Given the description of an element on the screen output the (x, y) to click on. 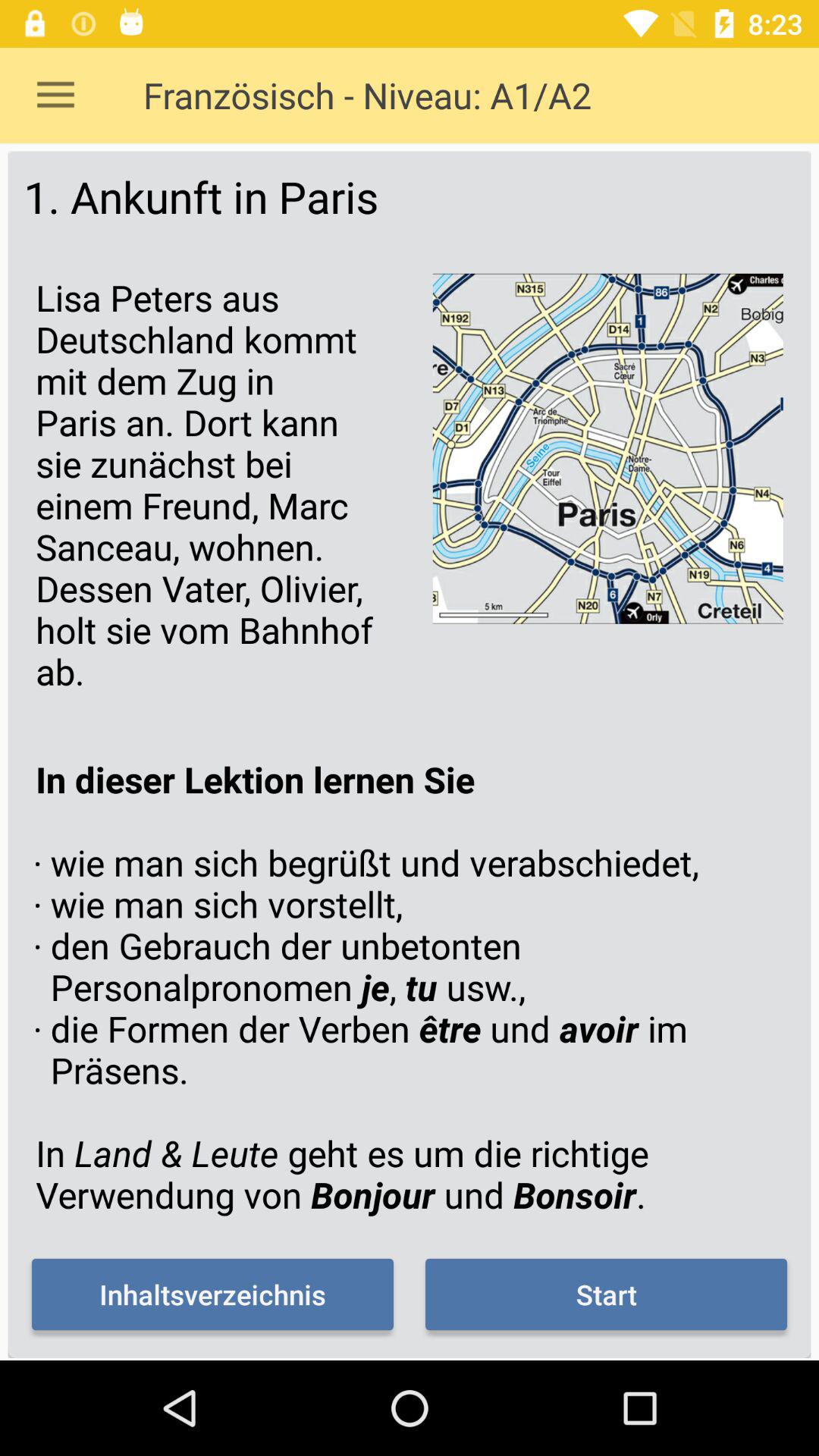
turn off the item below lisa peters aus (409, 986)
